Given the description of an element on the screen output the (x, y) to click on. 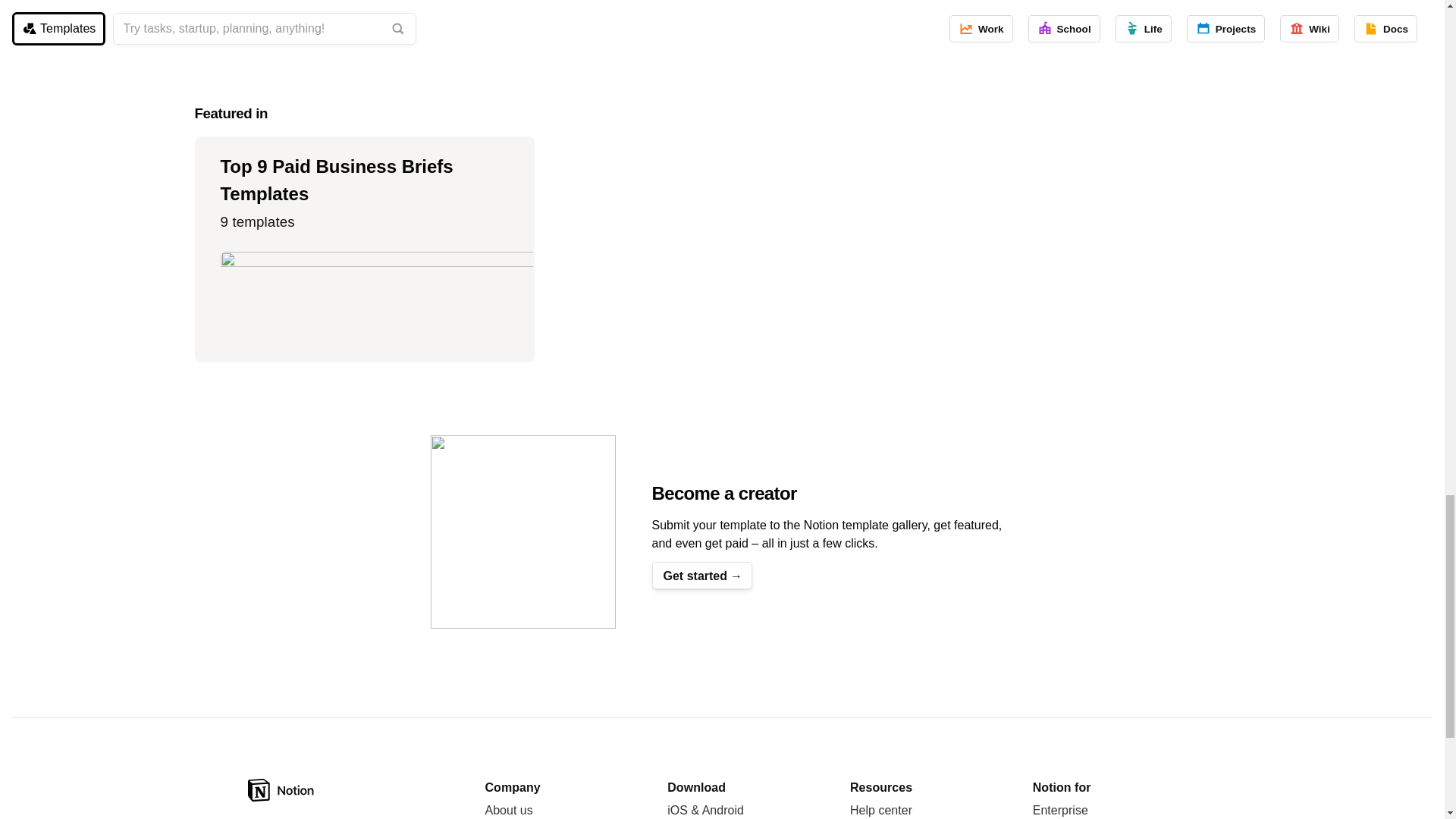
Using data: Link previews (363, 11)
